Given the description of an element on the screen output the (x, y) to click on. 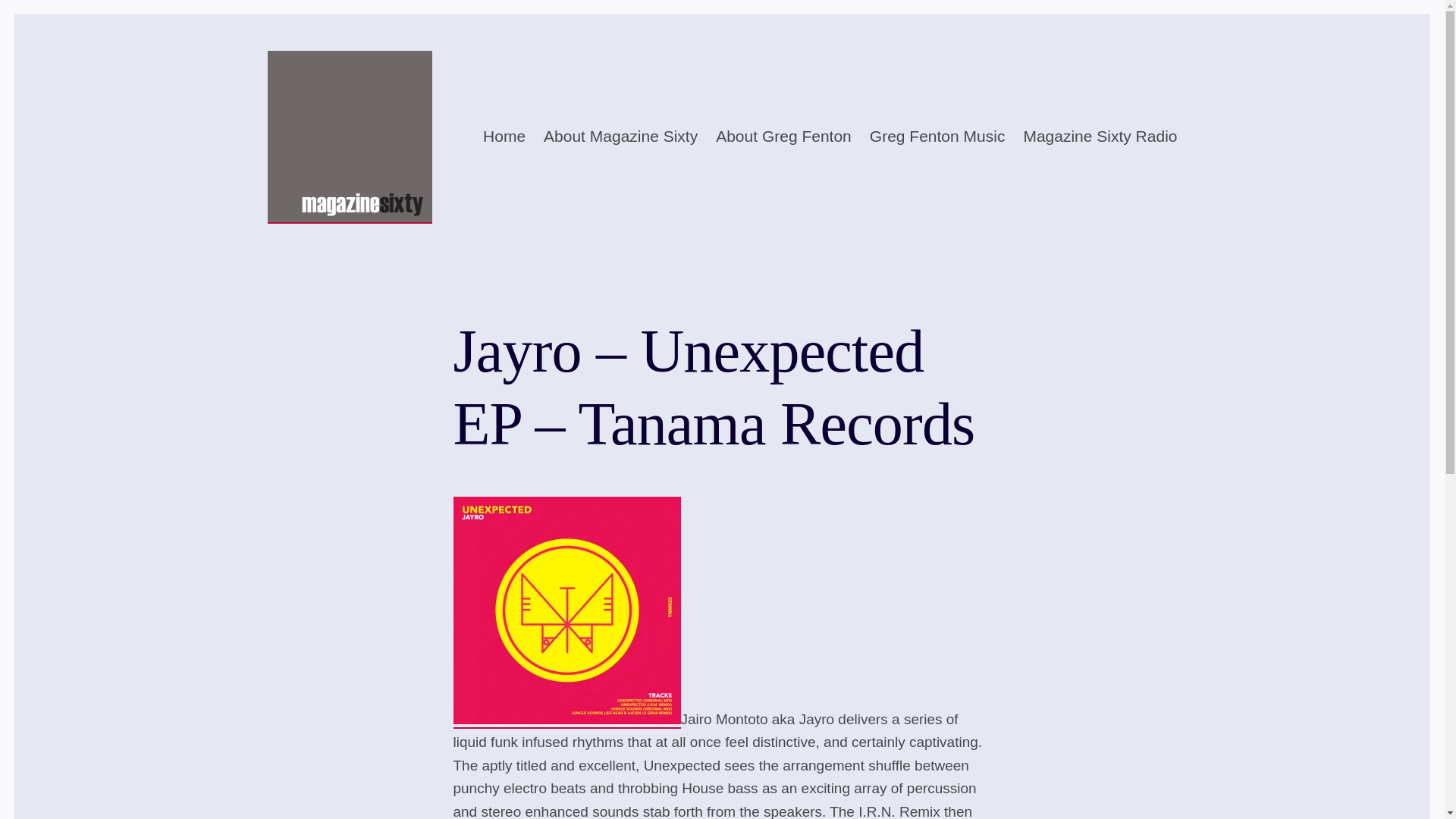
Magazine Sixty Radio (1099, 136)
About Greg Fenton (783, 136)
Home (504, 136)
Greg Fenton Music (937, 136)
About Magazine Sixty (620, 136)
